Given the description of an element on the screen output the (x, y) to click on. 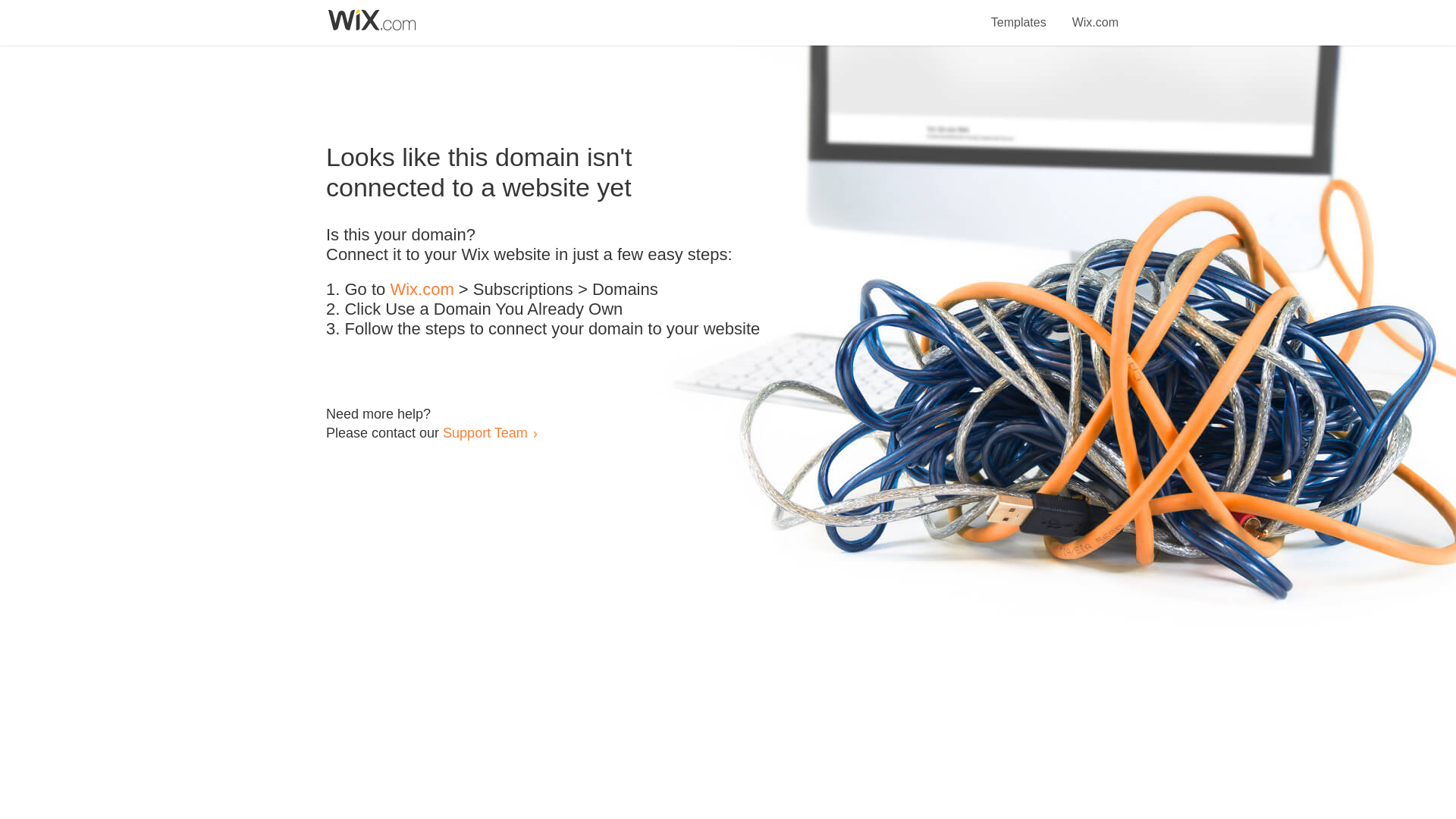
Templates (1018, 14)
Wix.com (1095, 14)
Support Team (484, 432)
Wix.com (421, 289)
